Given the description of an element on the screen output the (x, y) to click on. 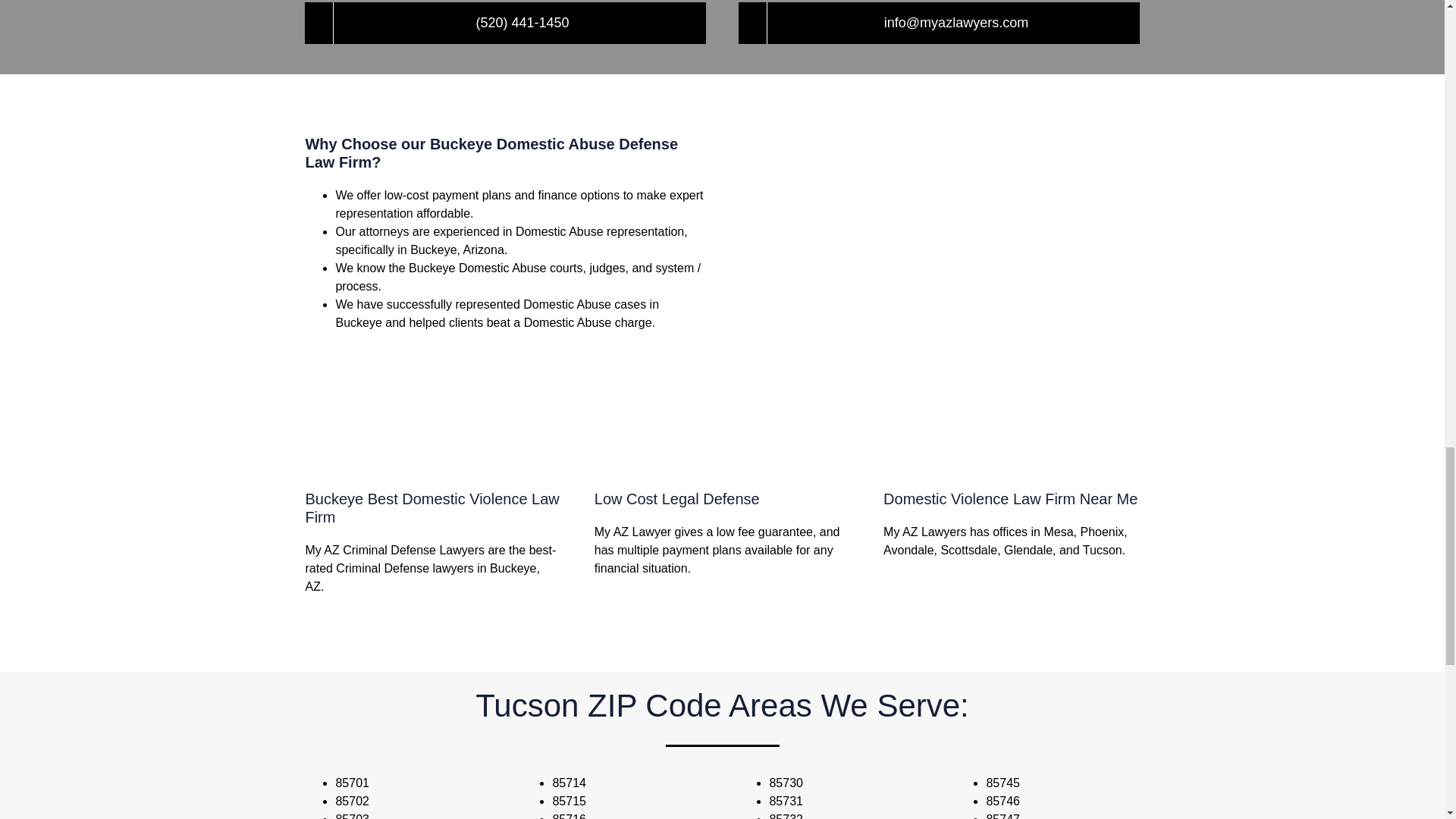
Call For A Free Case Evaluation! (938, 23)
Call For A Free Case Evaluation! (504, 23)
YouTube video player 1 (938, 251)
